Given the description of an element on the screen output the (x, y) to click on. 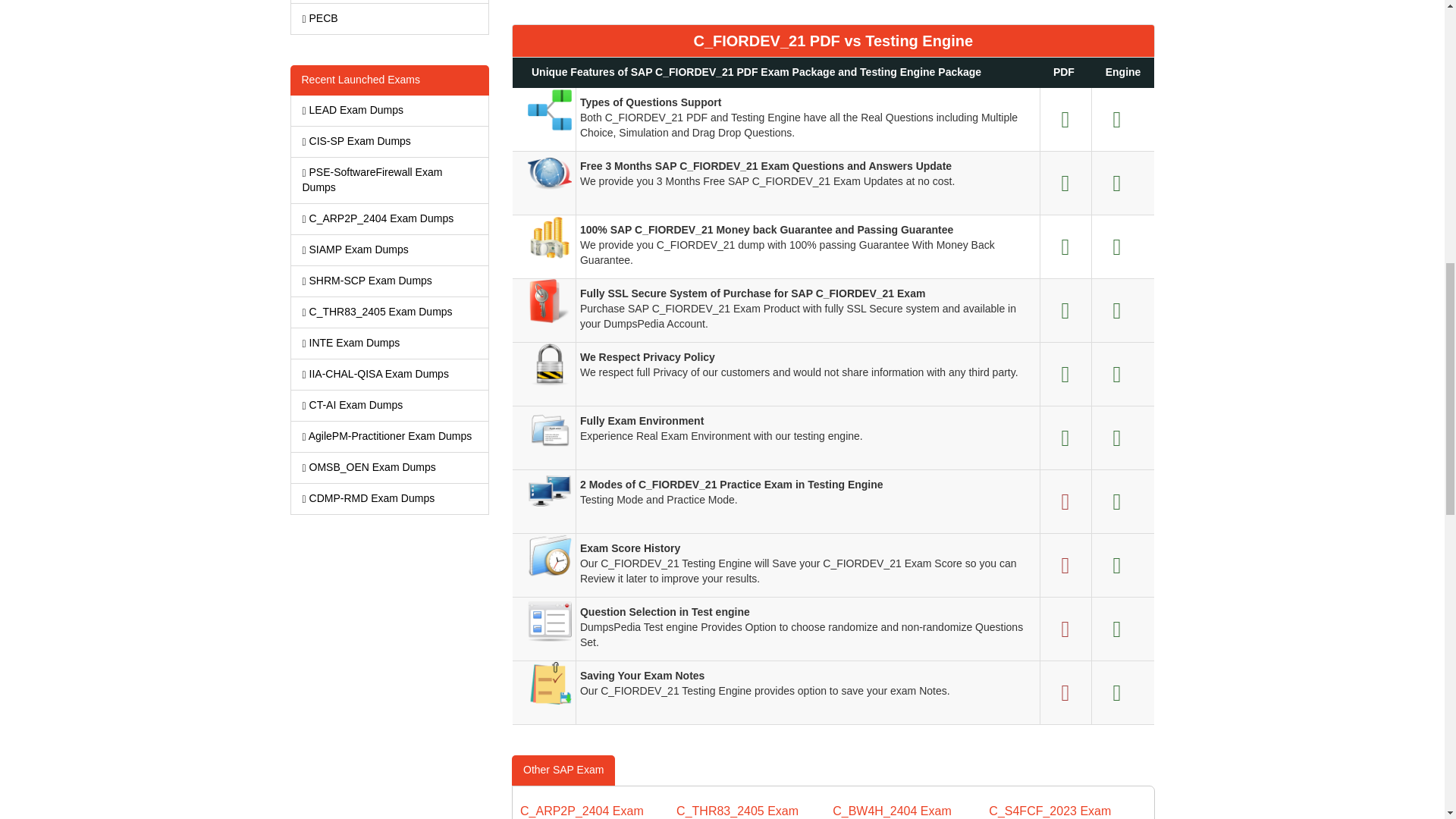
LEAD Exam Dumps (390, 110)
Zend (390, 1)
CIS-SP Exam Dumps (390, 141)
Recent Launched Exams (389, 80)
LEAD (390, 110)
Zend (390, 1)
CIS-SP (390, 141)
PECB (390, 19)
PECB (390, 19)
PSE-SoftwareFirewall Exam Dumps (390, 180)
